Given the description of an element on the screen output the (x, y) to click on. 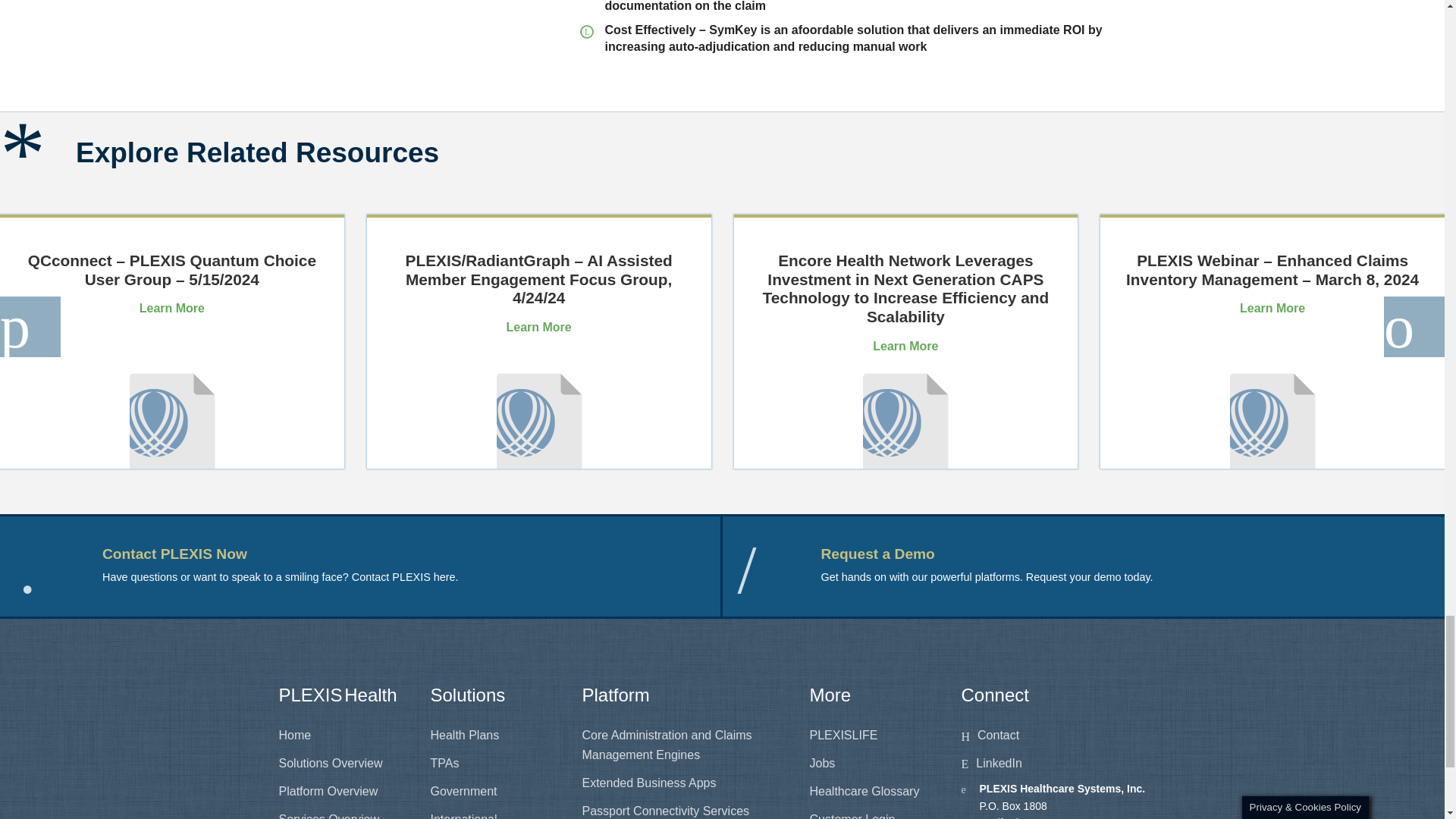
Link List (343, 766)
Link List (874, 766)
Link List (1063, 766)
Link List (494, 766)
Link List (684, 766)
